Given the description of an element on the screen output the (x, y) to click on. 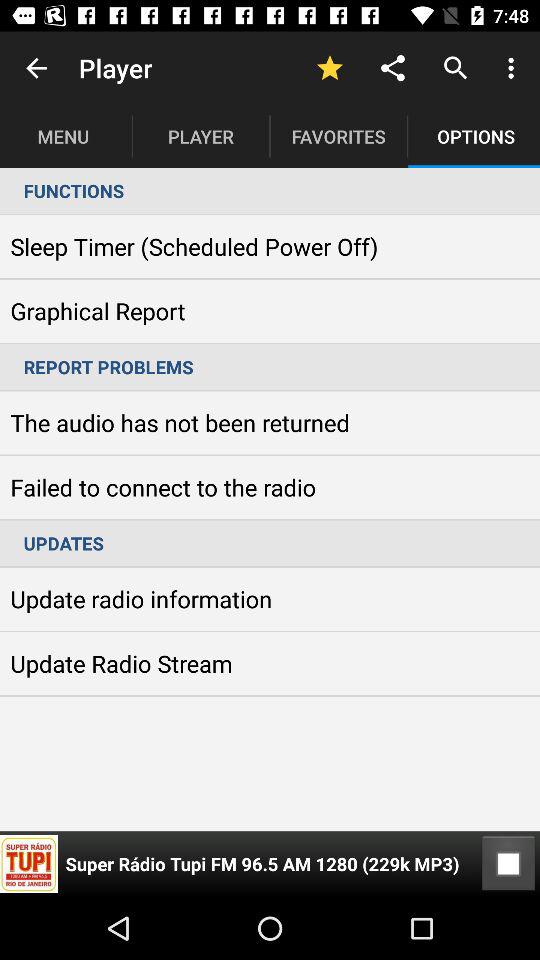
click the item next to player (36, 68)
